Given the description of an element on the screen output the (x, y) to click on. 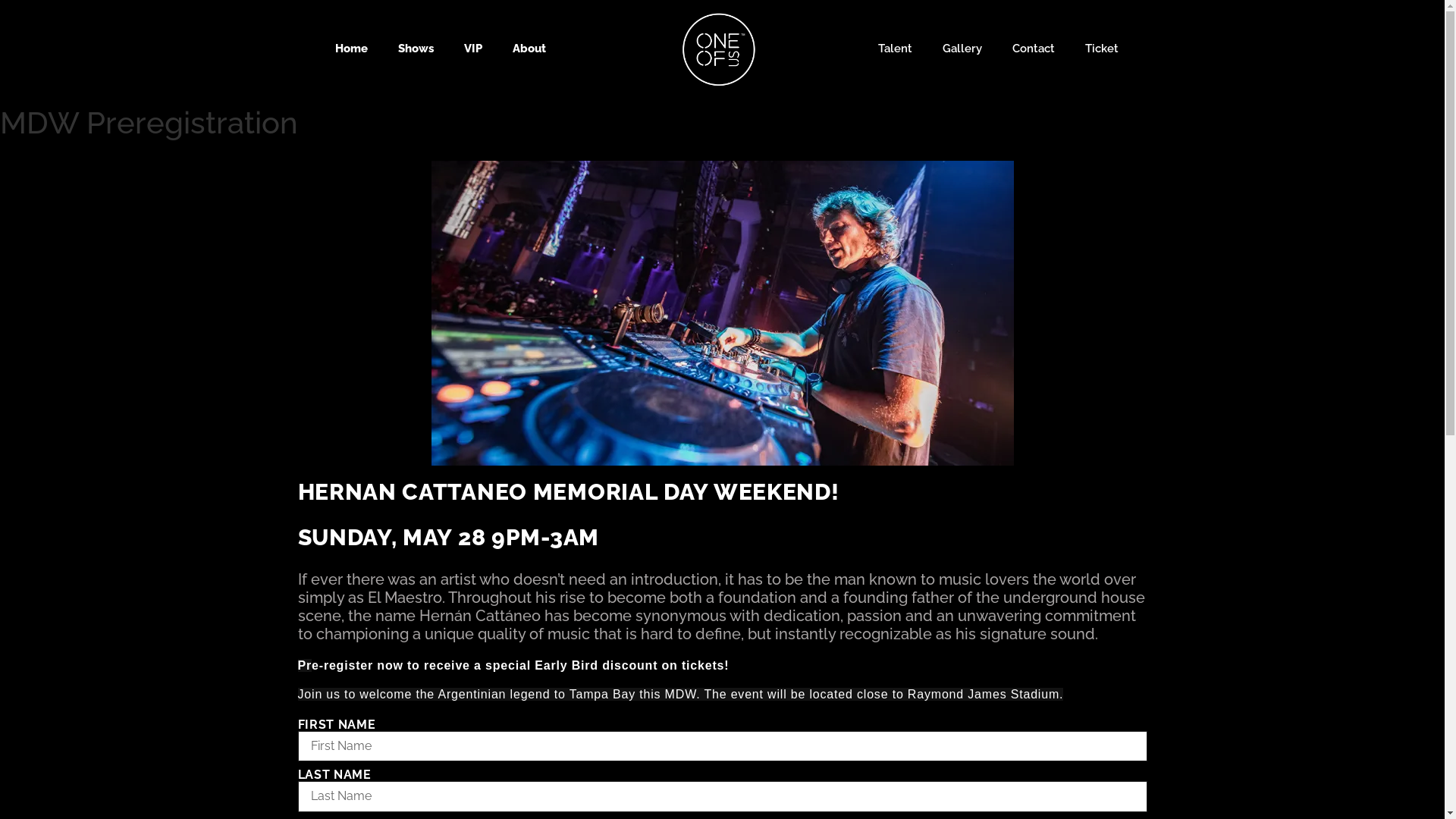
VIP Element type: text (472, 48)
Talent Element type: text (894, 48)
Ticket Element type: text (1101, 48)
Home Element type: text (351, 48)
Contact Element type: text (1033, 48)
About Element type: text (529, 48)
Shows Element type: text (415, 48)
Gallery Element type: text (962, 48)
